Given the description of an element on the screen output the (x, y) to click on. 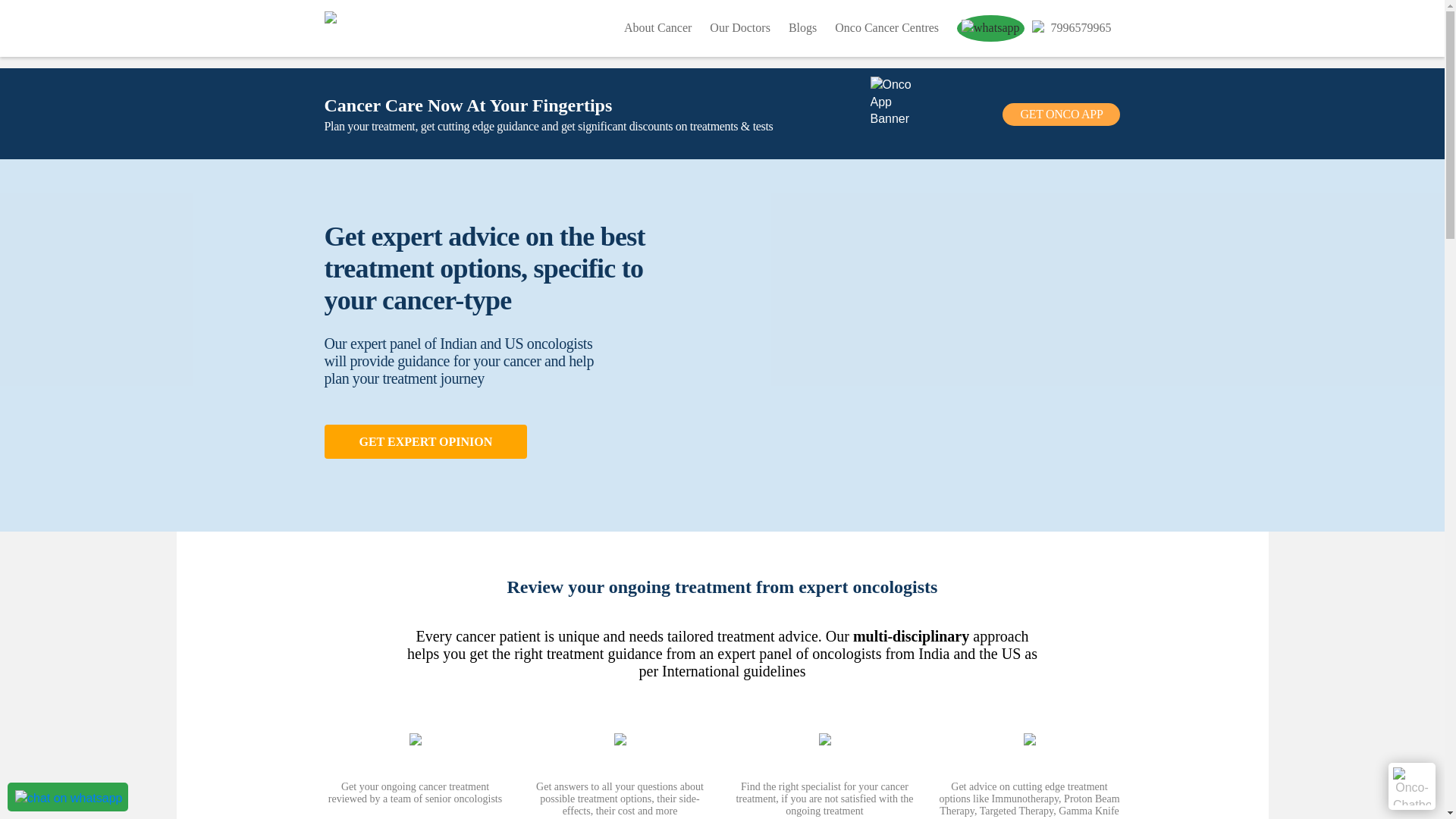
GET ONCO APP (1061, 114)
GET ONCO APP (1061, 113)
Our Doctors (740, 27)
GET EXPERT OPINION (425, 441)
Blogs (802, 27)
About Cancer (657, 27)
Onco Cancer Centres (886, 27)
7996579965 (1066, 27)
